Given the description of an element on the screen output the (x, y) to click on. 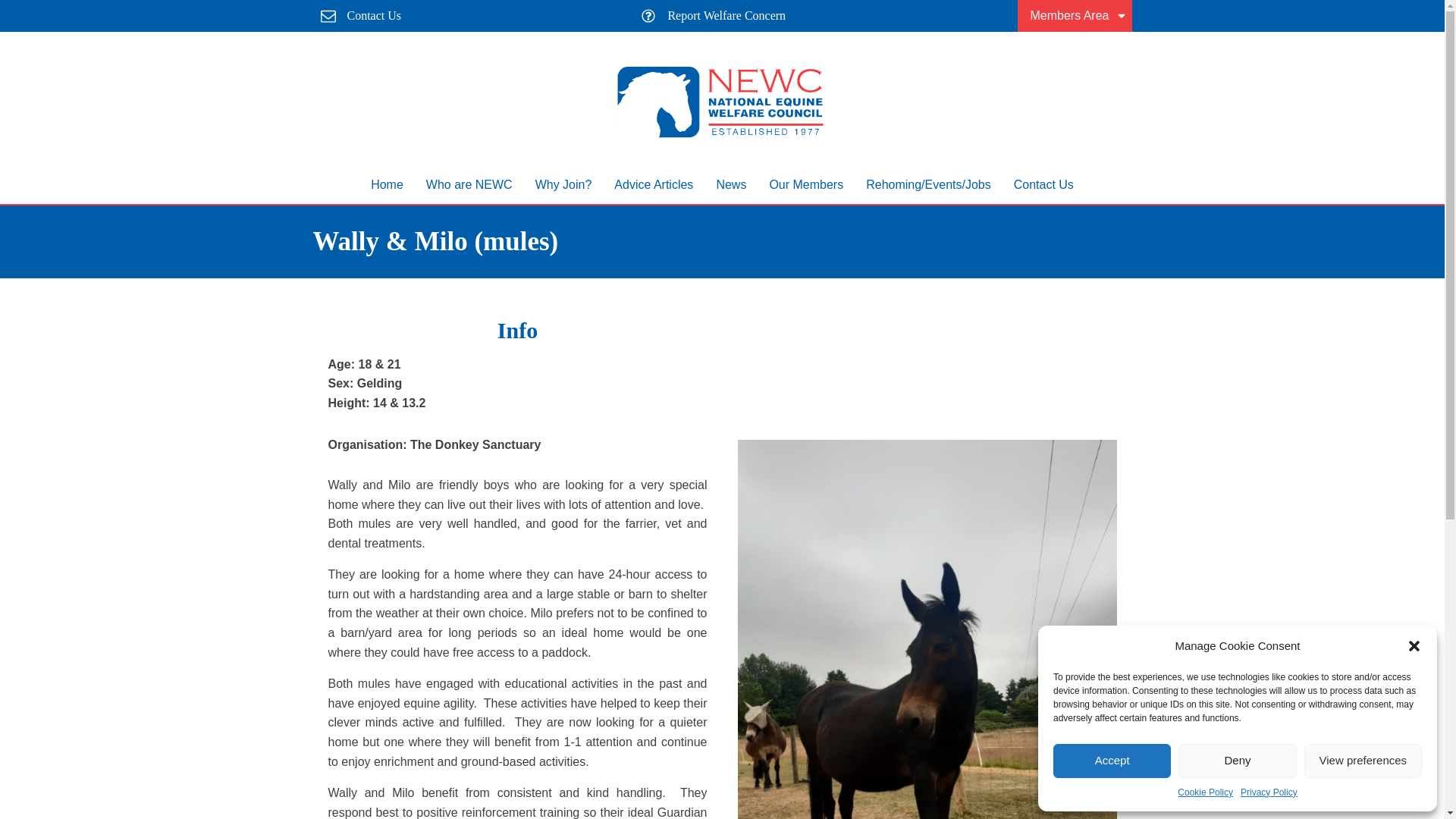
Home (386, 184)
View preferences (1363, 760)
Cookie Policy (1205, 792)
Privacy Policy (1268, 792)
Report Welfare Concern (709, 15)
Why Join? (564, 184)
Contact Us (1043, 184)
Contact Us (357, 15)
News (730, 184)
Accept (1111, 760)
